Given the description of an element on the screen output the (x, y) to click on. 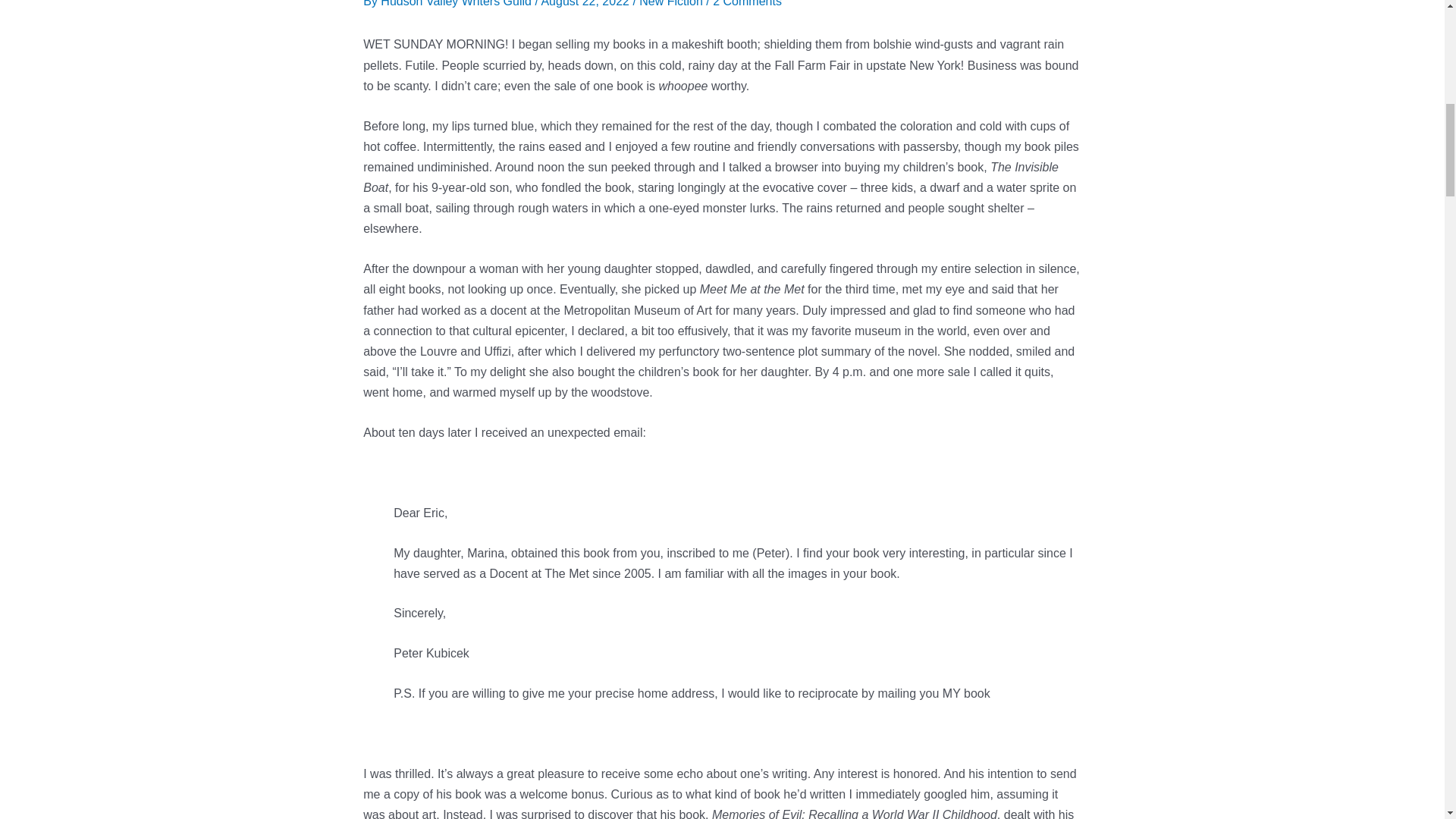
View all posts by Hudson Valley Writers Guild (457, 3)
